Given the description of an element on the screen output the (x, y) to click on. 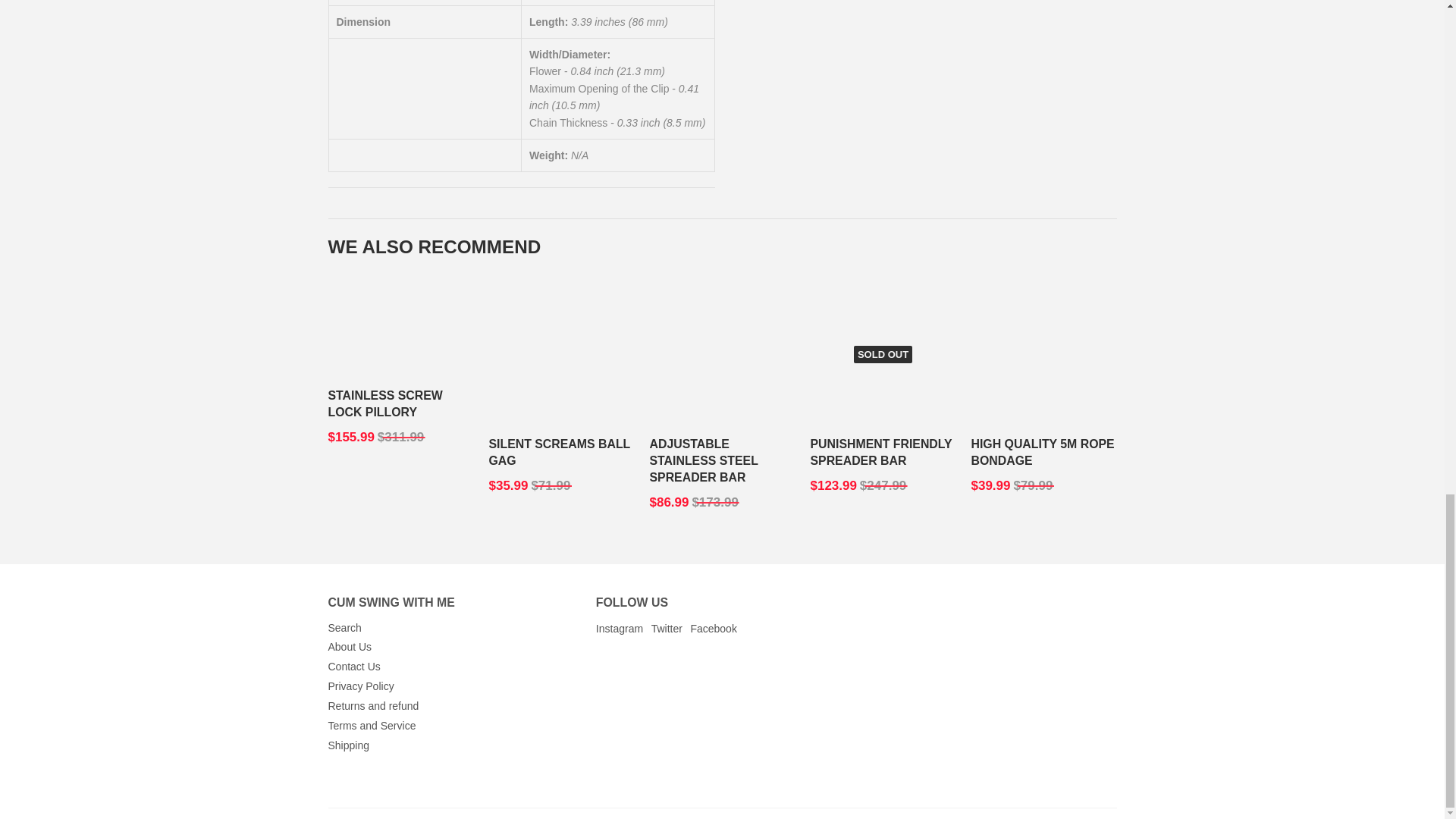
Cum Swing With Me on Facebook (713, 628)
Cum Swing With Me on Twitter (666, 628)
Cum Swing With Me on Instagram (619, 628)
